Given the description of an element on the screen output the (x, y) to click on. 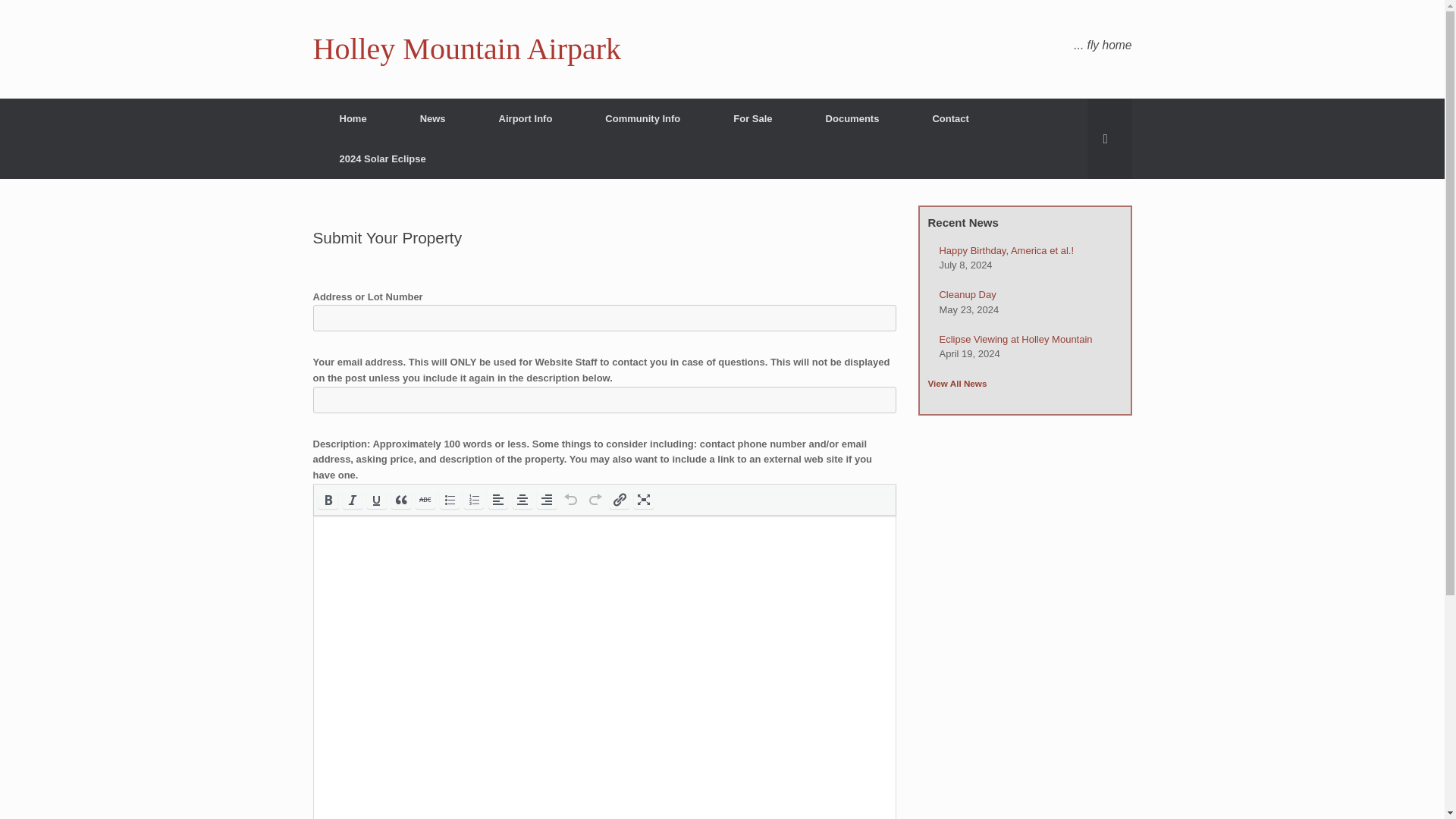
Holley Mountain Airpark (467, 49)
Community Info (642, 118)
For Sale (751, 118)
Cleanup Day (967, 294)
2024 Solar Eclipse (382, 158)
Eclipse Viewing at Holley Mountain (1015, 338)
Contact (949, 118)
Home (353, 118)
Airport Info (525, 118)
